Given the description of an element on the screen output the (x, y) to click on. 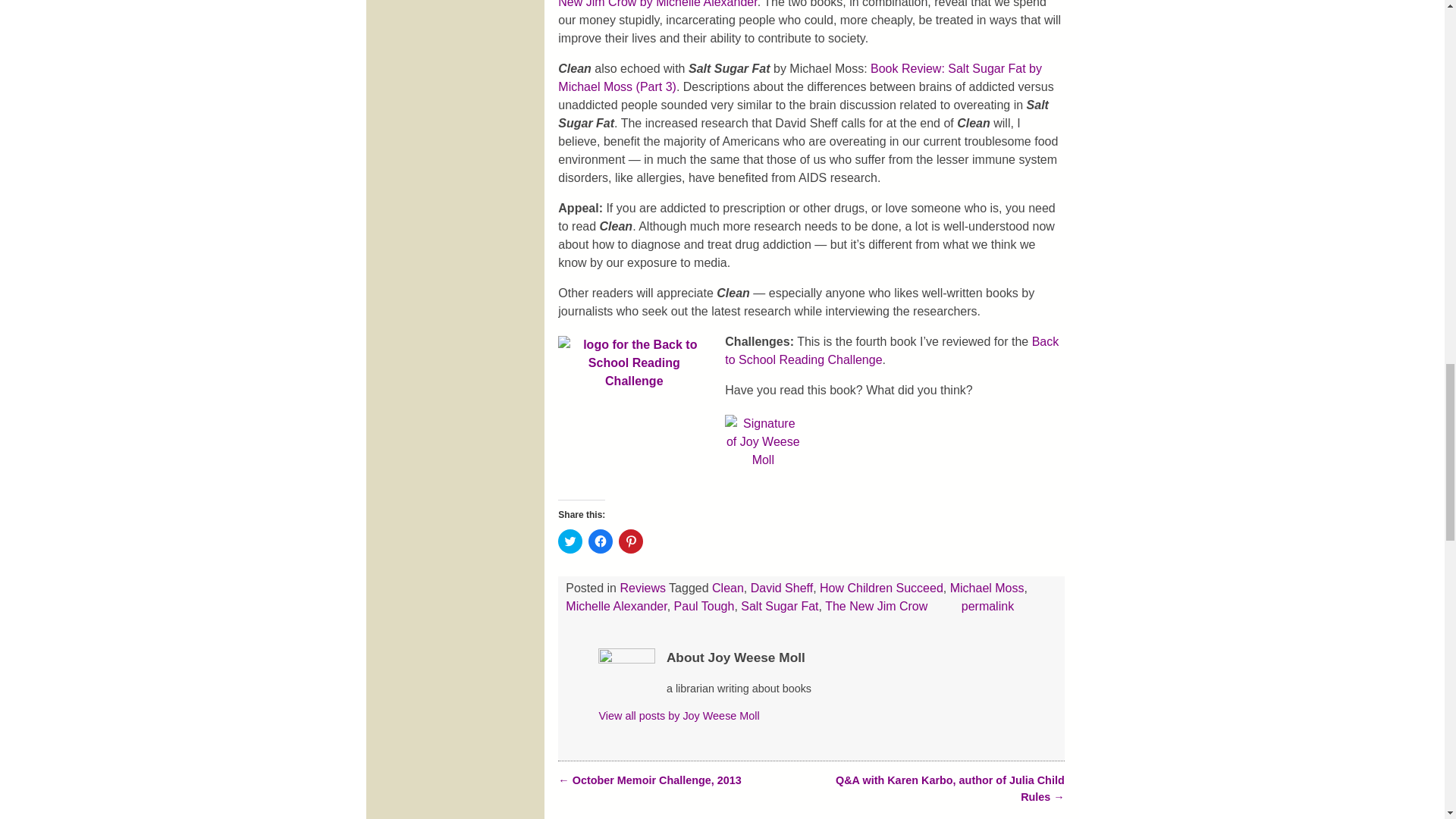
Clean (727, 587)
Michael Moss (987, 587)
Reviews (642, 587)
The New Jim Crow (876, 605)
Michelle Alexander (616, 605)
Permalink to Book Review: Clean by David Sheff (986, 605)
Click to share on Twitter (569, 541)
How Children Succeed (881, 587)
permalink (986, 605)
Click to share on Facebook (600, 541)
Book Review: The New Jim Crow by Michelle Alexander (797, 4)
View all posts by Joy Weese Moll (678, 715)
Smaller Signature (762, 452)
Back to School Reading Challenge (891, 350)
David Sheff (781, 587)
